Given the description of an element on the screen output the (x, y) to click on. 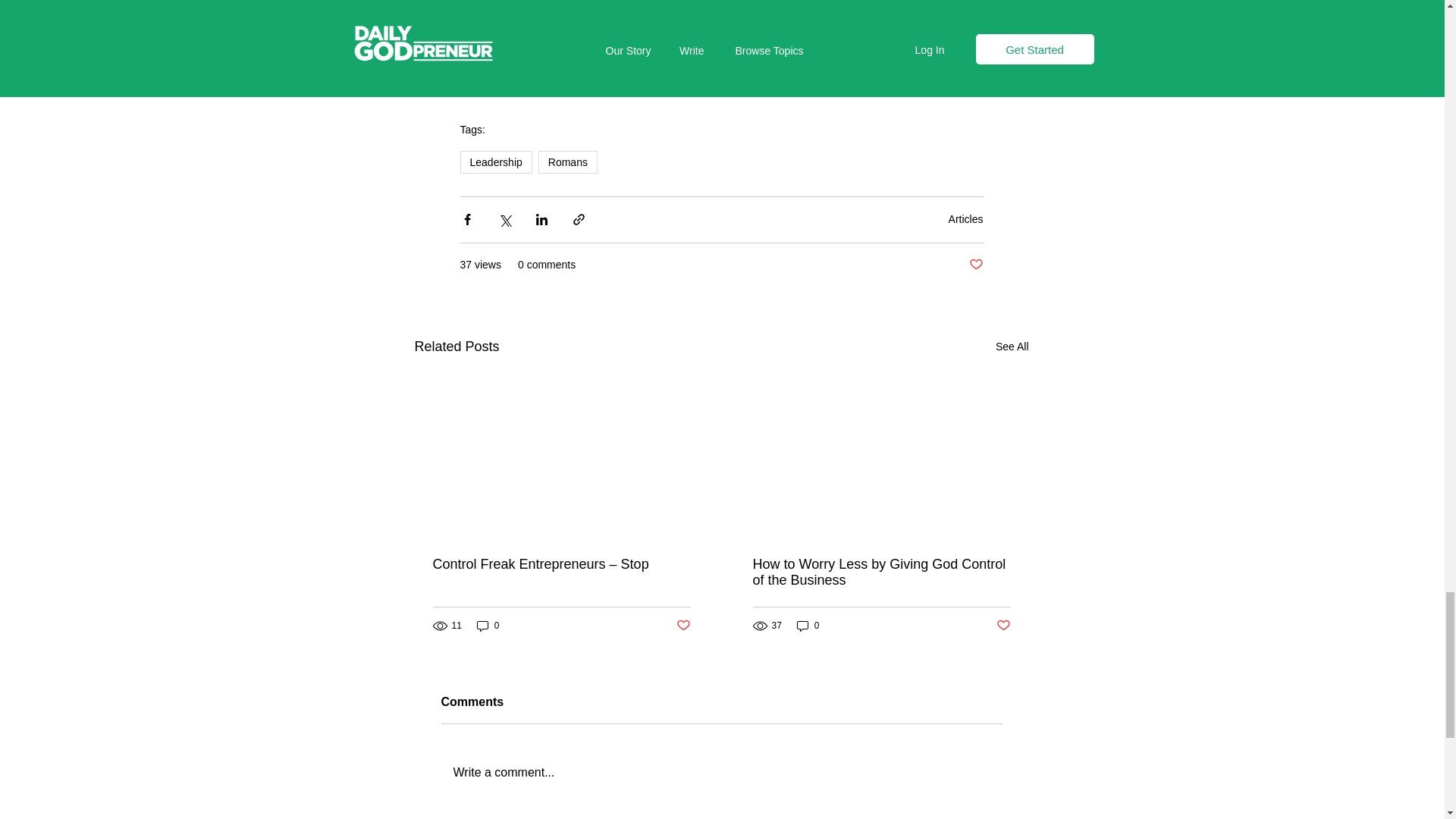
Post not marked as liked (976, 264)
See All (1012, 346)
Click here to create a Free Account (721, 83)
Romans (567, 161)
Articles (966, 218)
Leadership (495, 161)
